Given the description of an element on the screen output the (x, y) to click on. 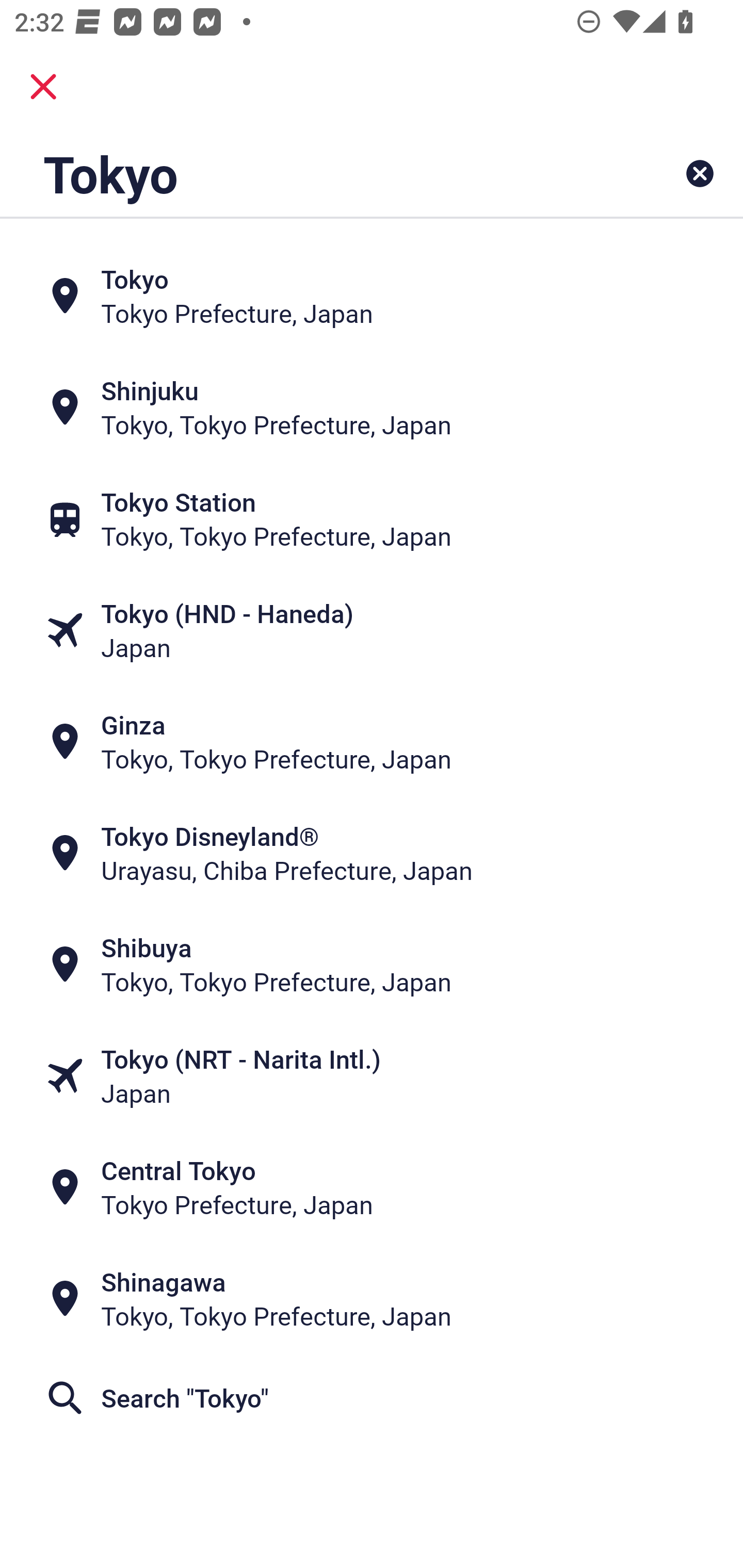
close. (43, 86)
Clear (699, 173)
Tokyo (306, 173)
Tokyo Tokyo Prefecture, Japan (371, 295)
Shinjuku Tokyo, Tokyo Prefecture, Japan (371, 406)
Tokyo Station Tokyo, Tokyo Prefecture, Japan (371, 517)
Tokyo (HND - Haneda) Japan (371, 629)
Ginza Tokyo, Tokyo Prefecture, Japan (371, 742)
Tokyo Disneyland® Urayasu, Chiba Prefecture, Japan (371, 853)
Shibuya Tokyo, Tokyo Prefecture, Japan (371, 964)
Tokyo (NRT - Narita Intl.) Japan (371, 1076)
Central Tokyo Tokyo Prefecture, Japan (371, 1187)
Shinagawa Tokyo, Tokyo Prefecture, Japan (371, 1298)
Search "Tokyo" (371, 1397)
